Given the description of an element on the screen output the (x, y) to click on. 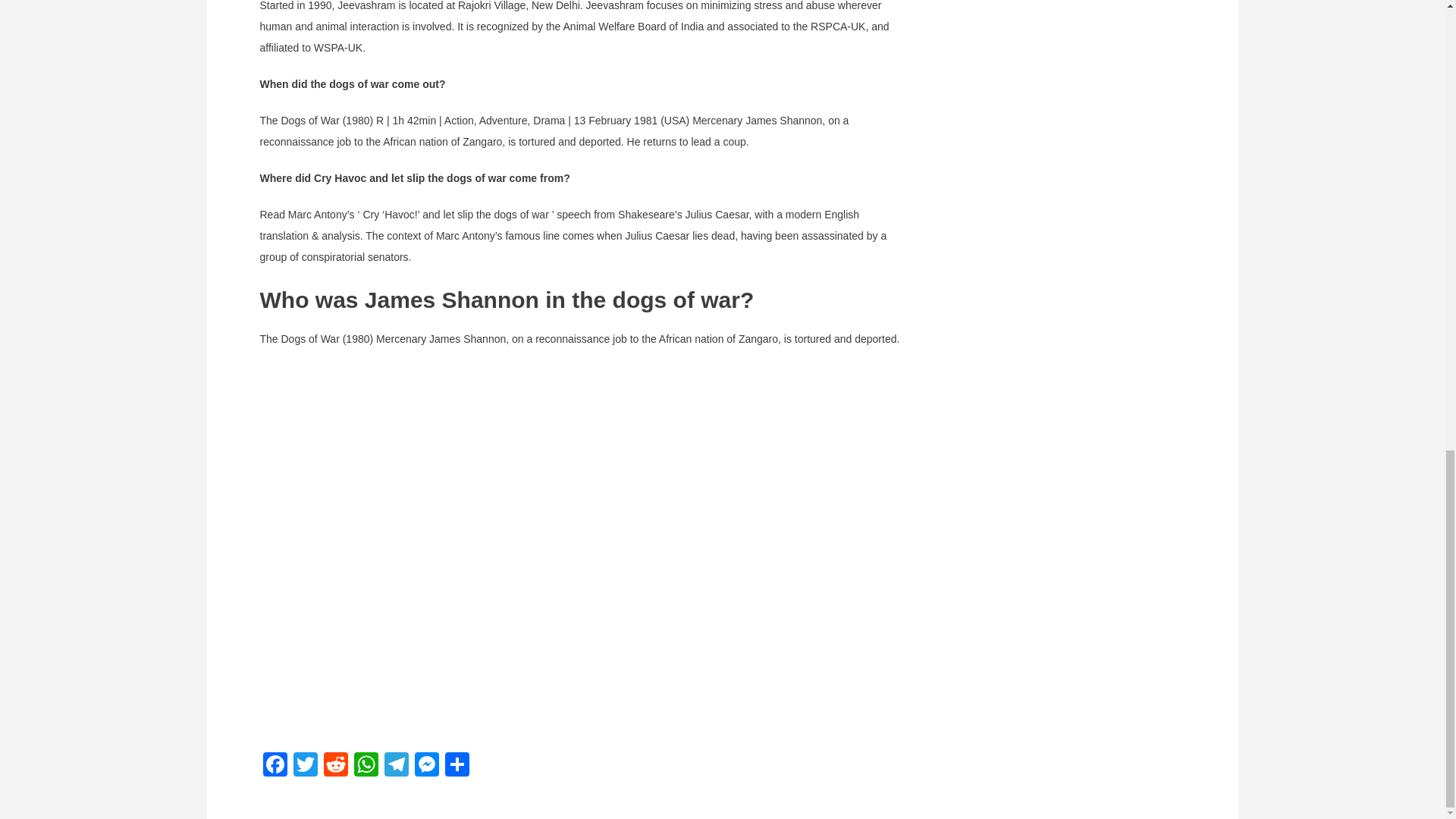
Reddit (335, 766)
Messenger (425, 766)
WhatsApp (365, 766)
Twitter (304, 766)
Facebook (274, 766)
Telegram (395, 766)
Facebook (274, 766)
Telegram (395, 766)
Twitter (304, 766)
